Given the description of an element on the screen output the (x, y) to click on. 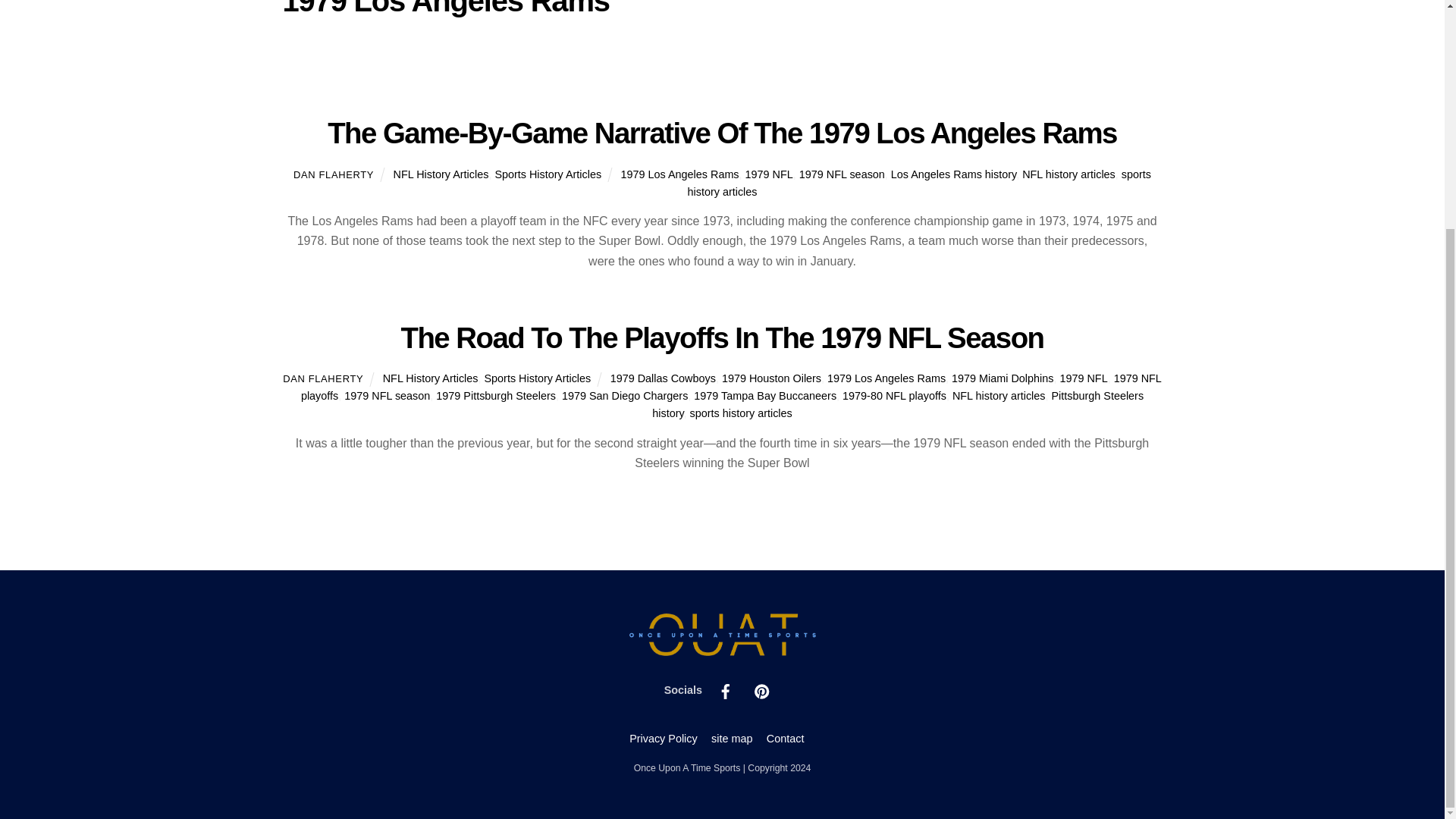
OUAT Sports (721, 651)
